Given the description of an element on the screen output the (x, y) to click on. 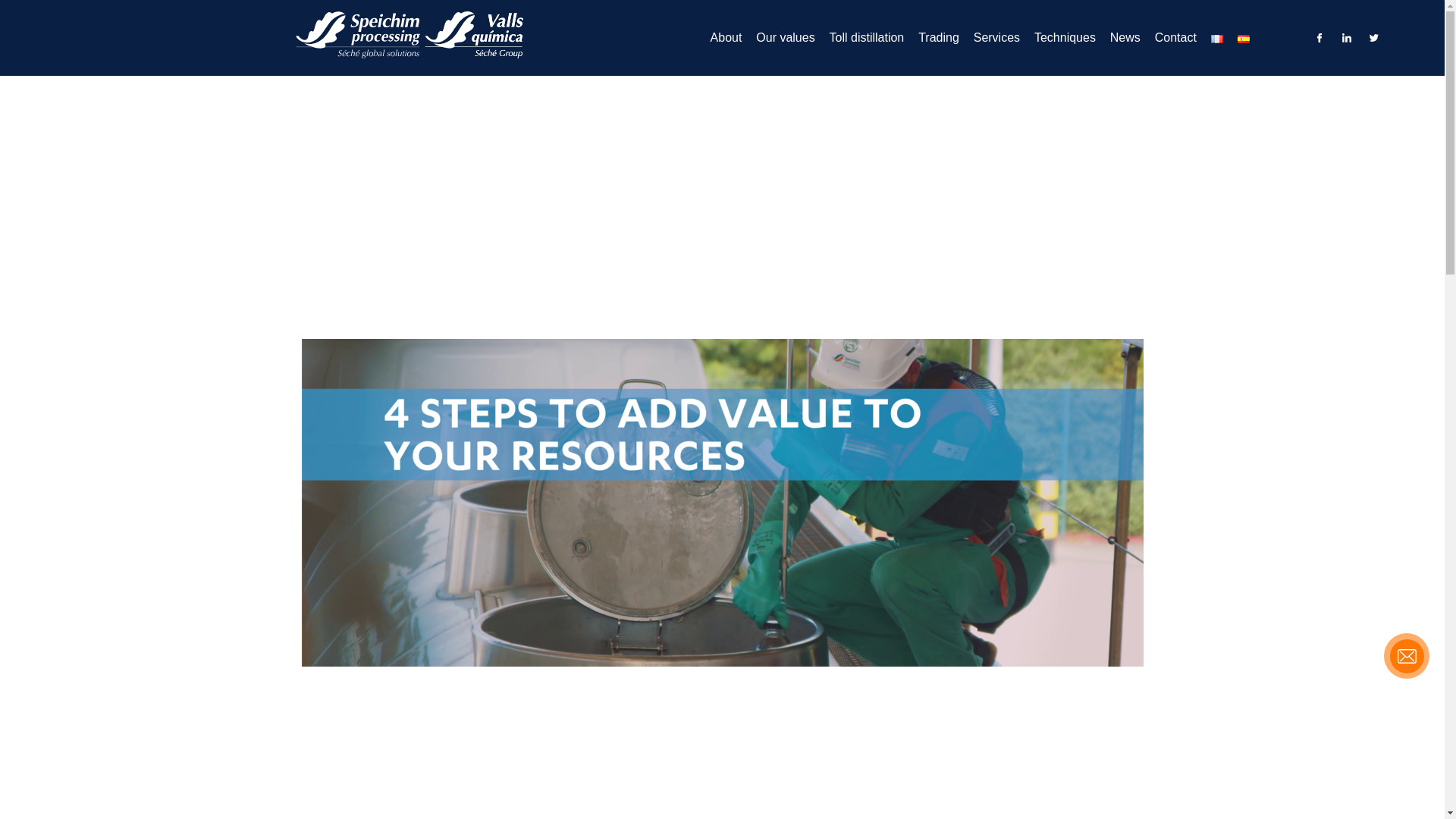
Contact (1175, 36)
About (726, 36)
Techniques (1064, 36)
Services (997, 36)
Our values (784, 36)
Toll distillation (866, 36)
News (1124, 36)
Trading (938, 36)
